Given the description of an element on the screen output the (x, y) to click on. 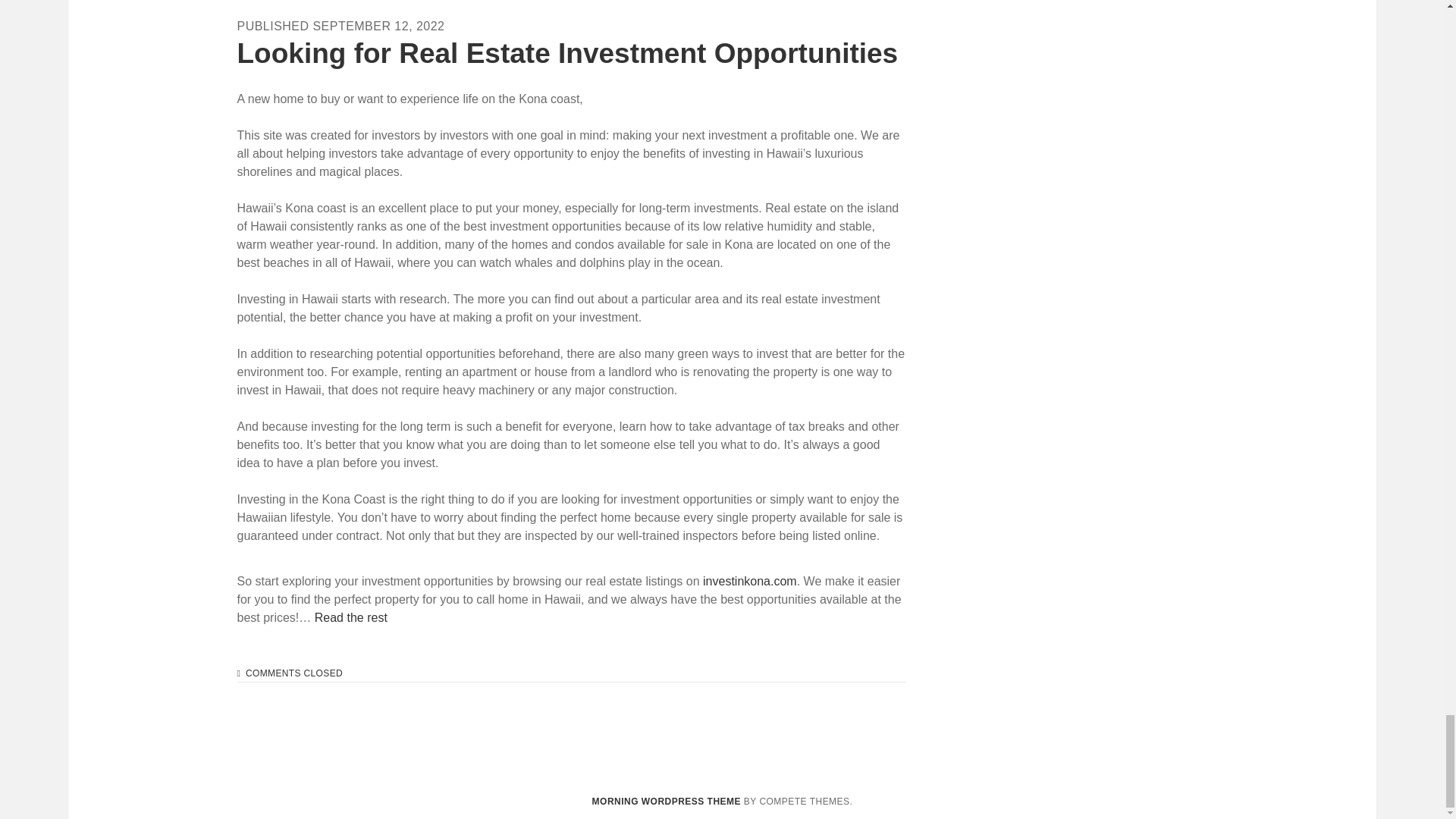
comment icon (237, 673)
Read the rest (350, 617)
investinkona.com (749, 581)
Looking for Real Estate Investment Opportunities (566, 52)
